Given the description of an element on the screen output the (x, y) to click on. 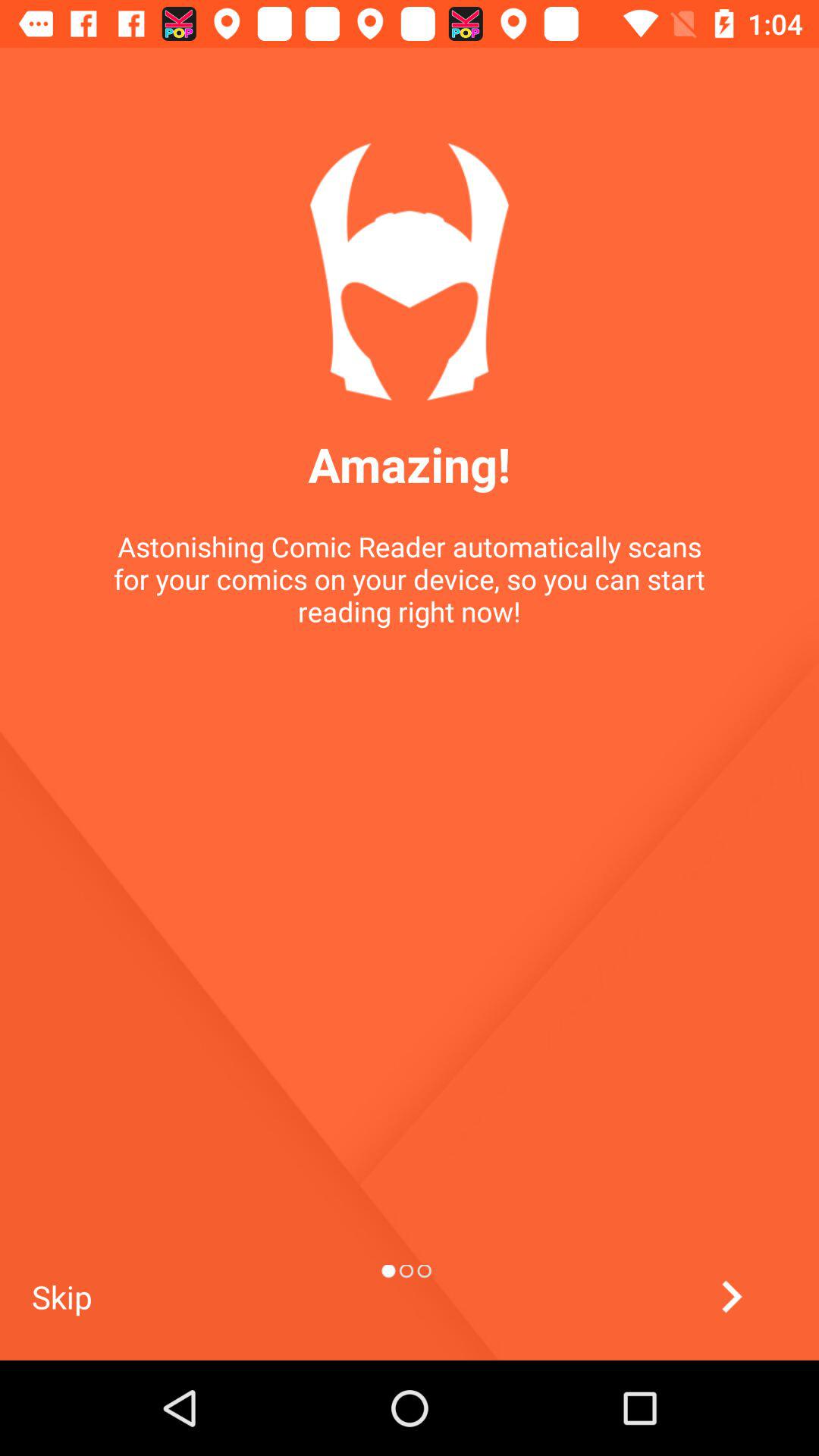
go to next option (731, 1296)
